Given the description of an element on the screen output the (x, y) to click on. 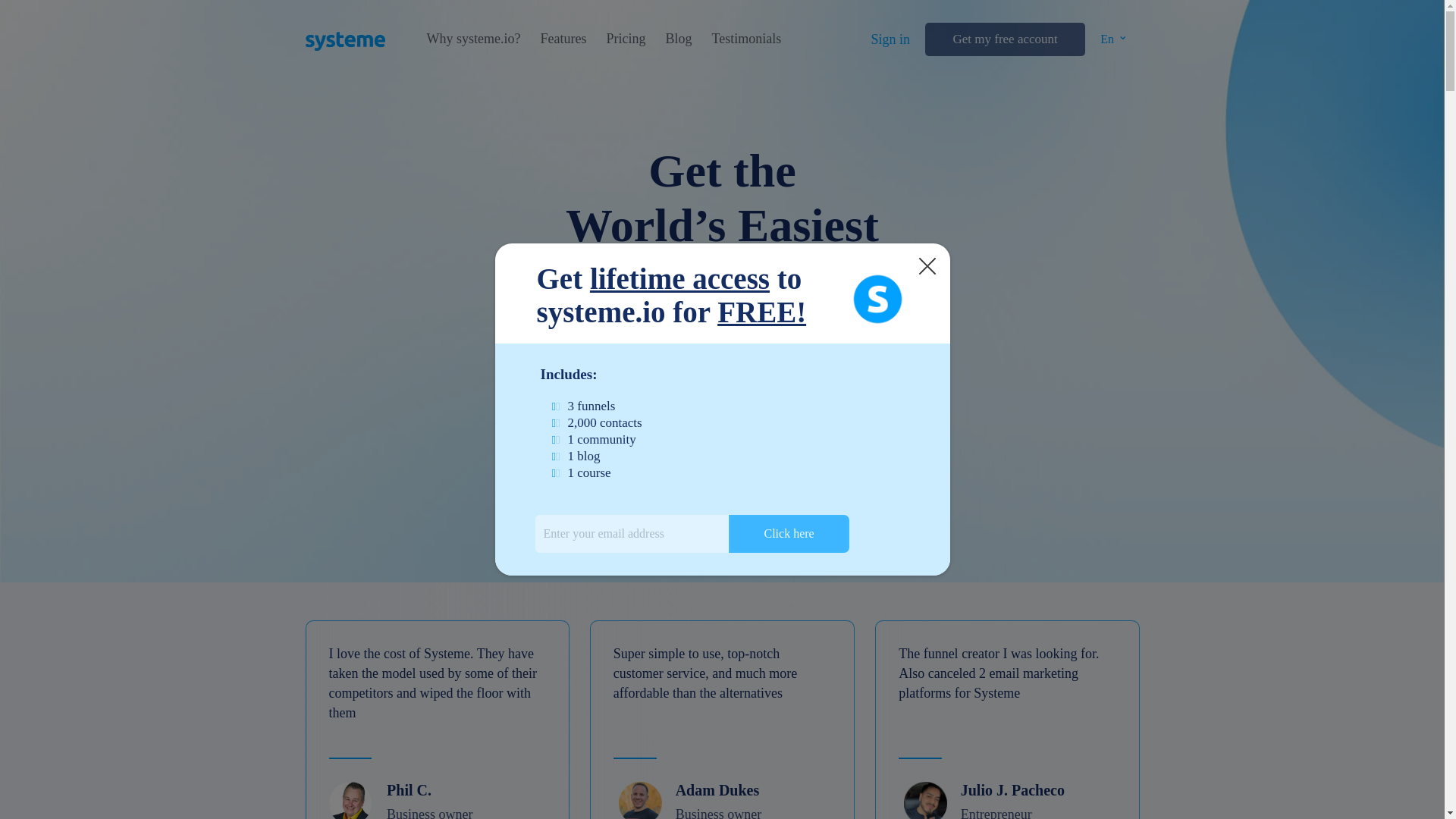
Blog (678, 38)
Testimonials (745, 38)
Why systeme.io? (472, 38)
Get my free account (1004, 39)
Features (563, 38)
Sign in (890, 39)
Pricing (625, 38)
